Given the description of an element on the screen output the (x, y) to click on. 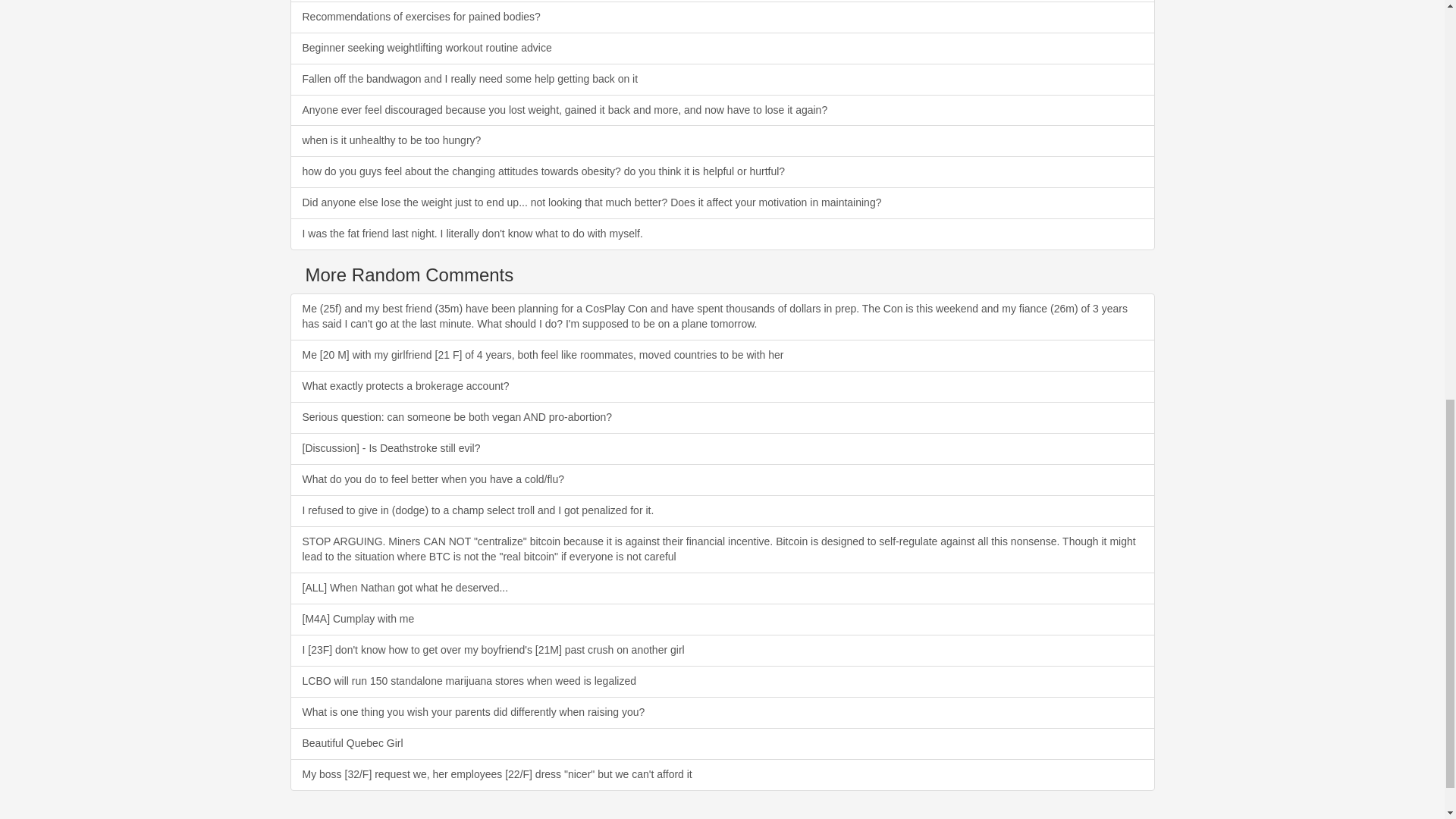
What exactly protects a brokerage account? (721, 386)
Beautiful Quebec Girl (721, 744)
when is it unhealthy to be too hungry? (721, 141)
Recommendations of exercises for pained bodies? (721, 17)
Beginner seeking weightlifting workout routine advice (721, 48)
